Given the description of an element on the screen output the (x, y) to click on. 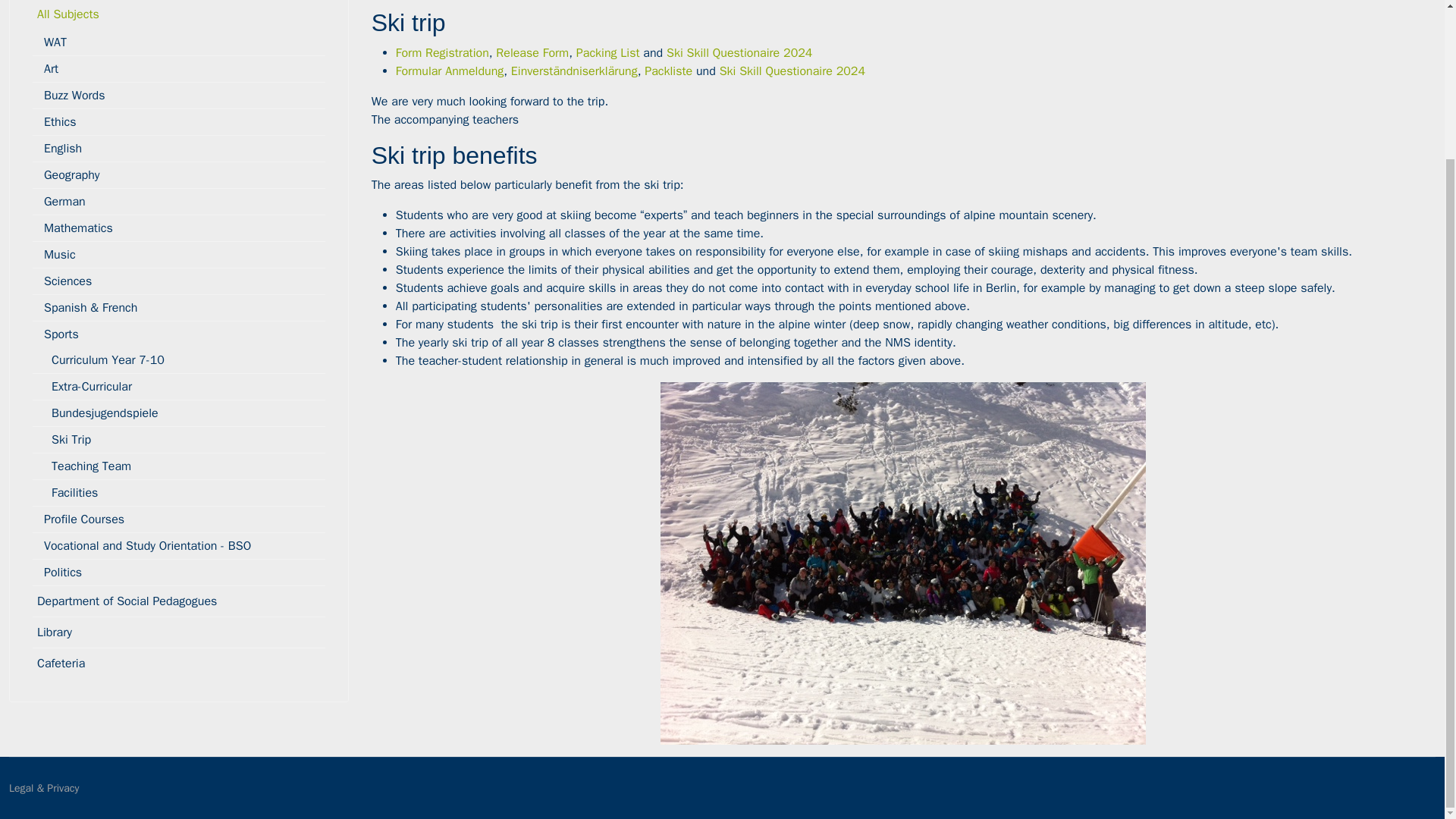
Art (178, 68)
All Subjects (178, 14)
WAT (178, 42)
